Given the description of an element on the screen output the (x, y) to click on. 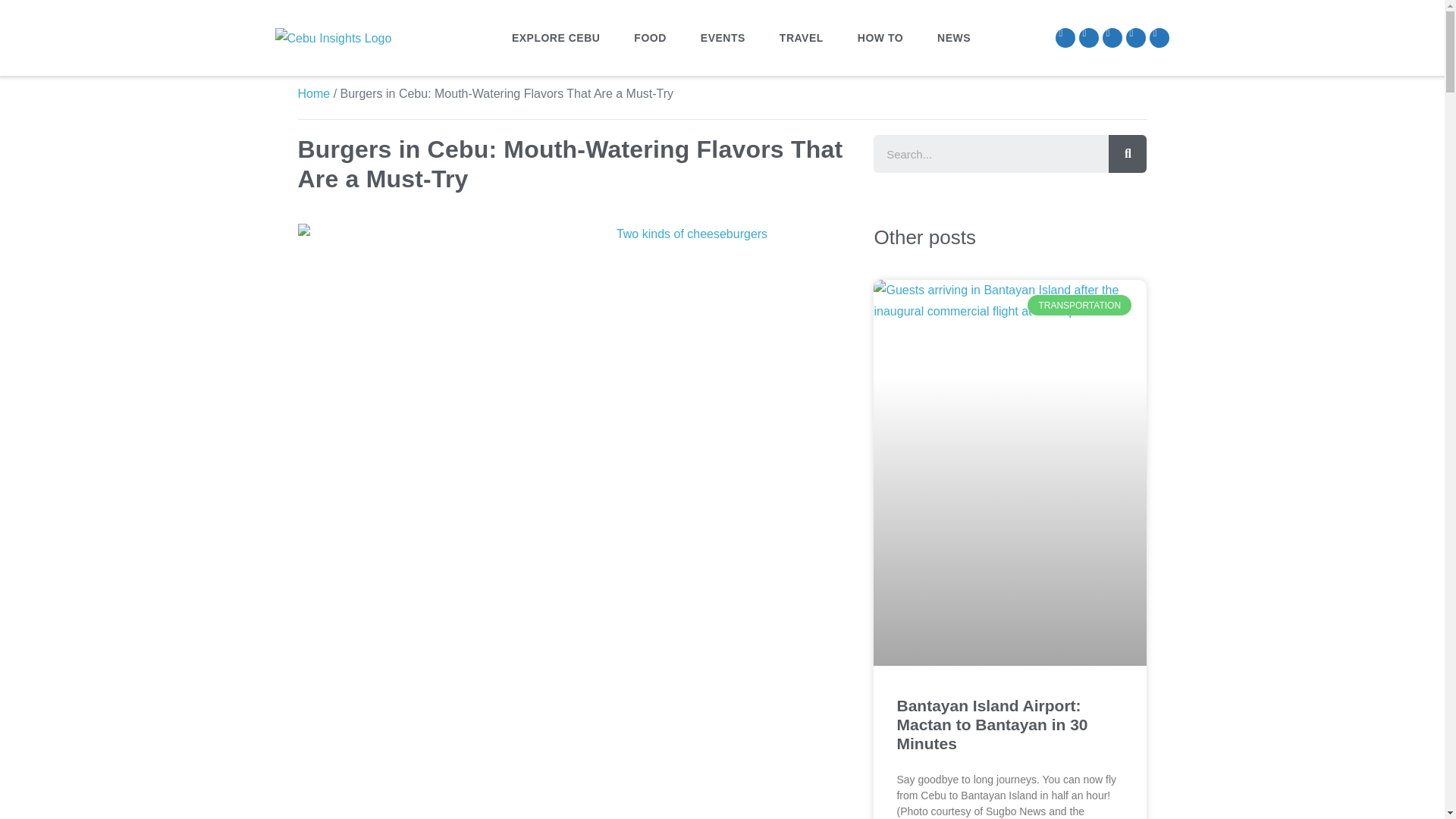
HOW TO (880, 37)
NEWS (953, 37)
Search (990, 153)
TRAVEL (801, 37)
FOOD (649, 37)
EVENTS (722, 37)
EXPLORE CEBU (555, 37)
